Given the description of an element on the screen output the (x, y) to click on. 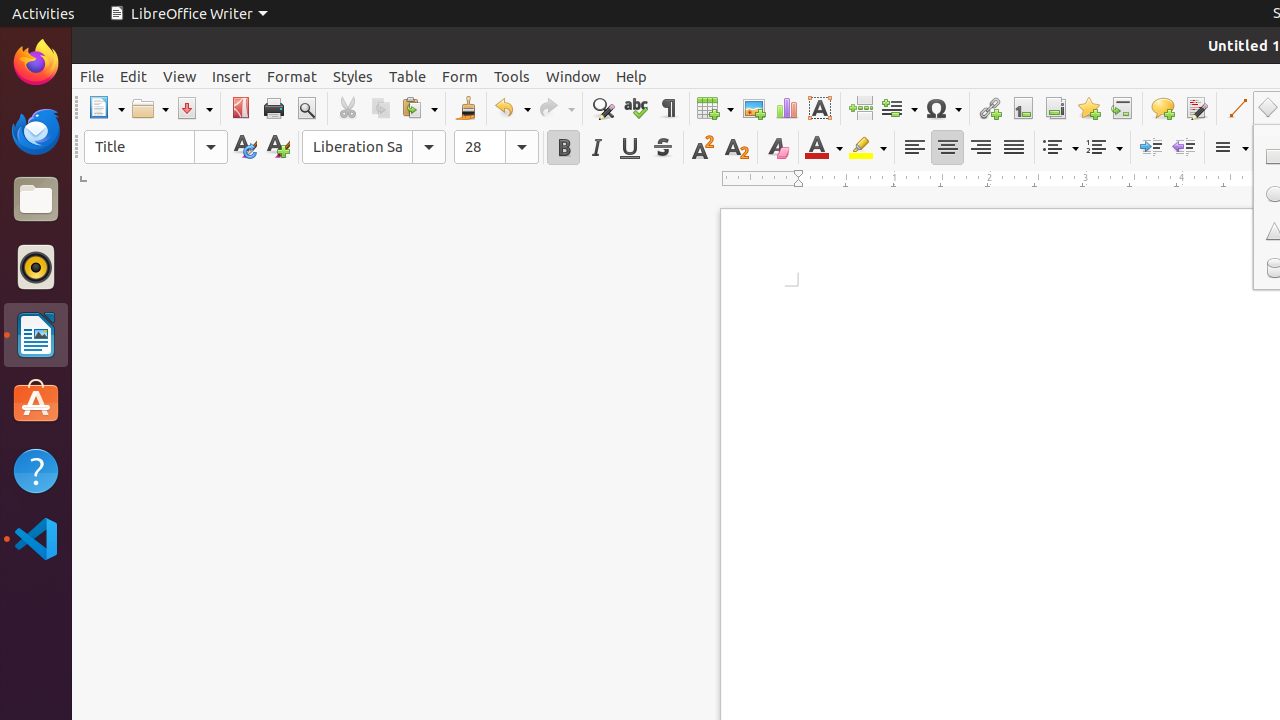
Center Element type: toggle-button (947, 147)
LibreOffice Writer Element type: push-button (36, 334)
Bold Element type: toggle-button (563, 147)
Highlight Color Element type: push-button (868, 147)
Open Element type: push-button (150, 108)
